Given the description of an element on the screen output the (x, y) to click on. 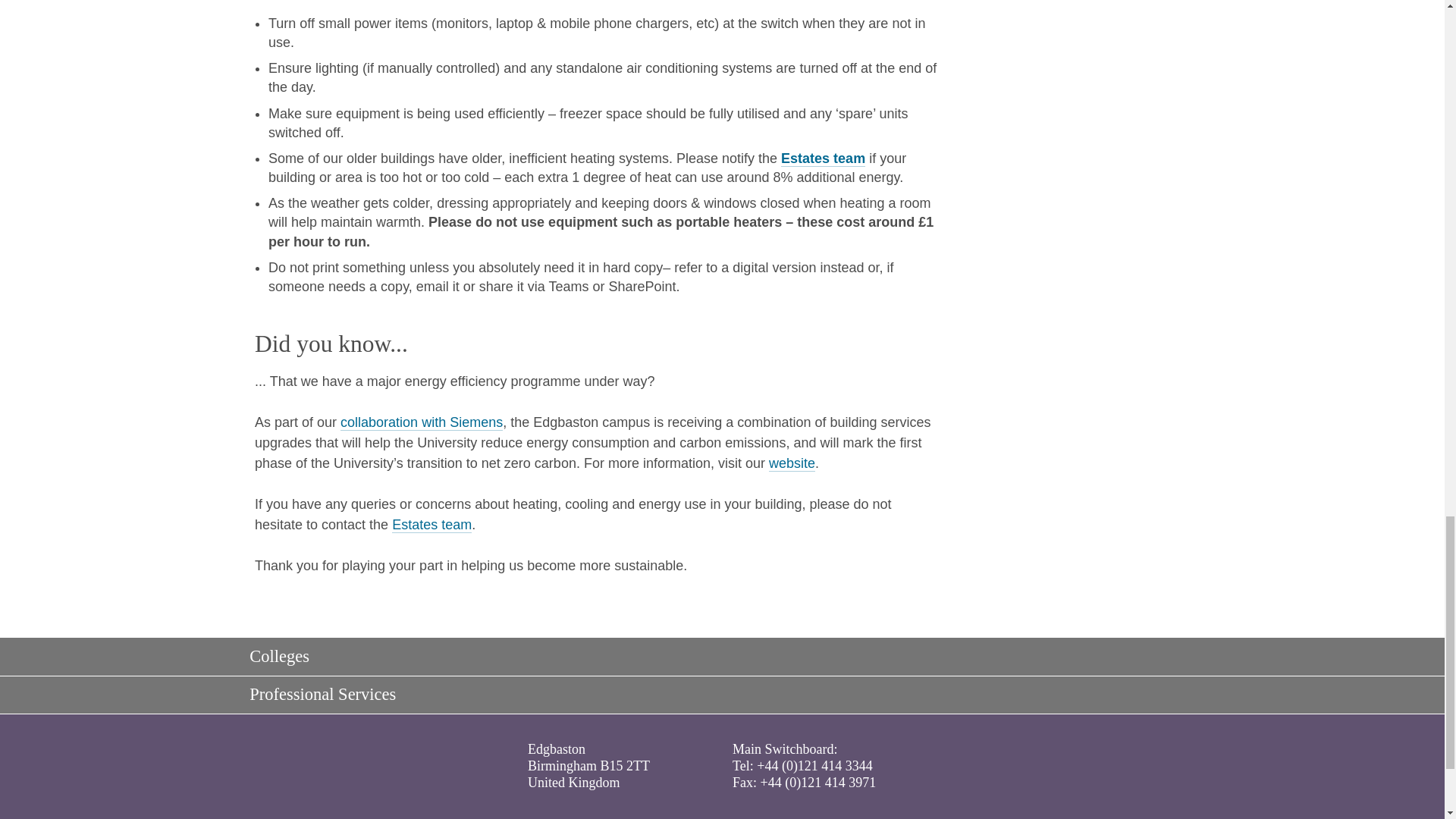
Journey to net zero carbon (421, 422)
Estates Team contacts (822, 158)
Journey to zero carbon (791, 463)
Estates contact links (431, 524)
